Given the description of an element on the screen output the (x, y) to click on. 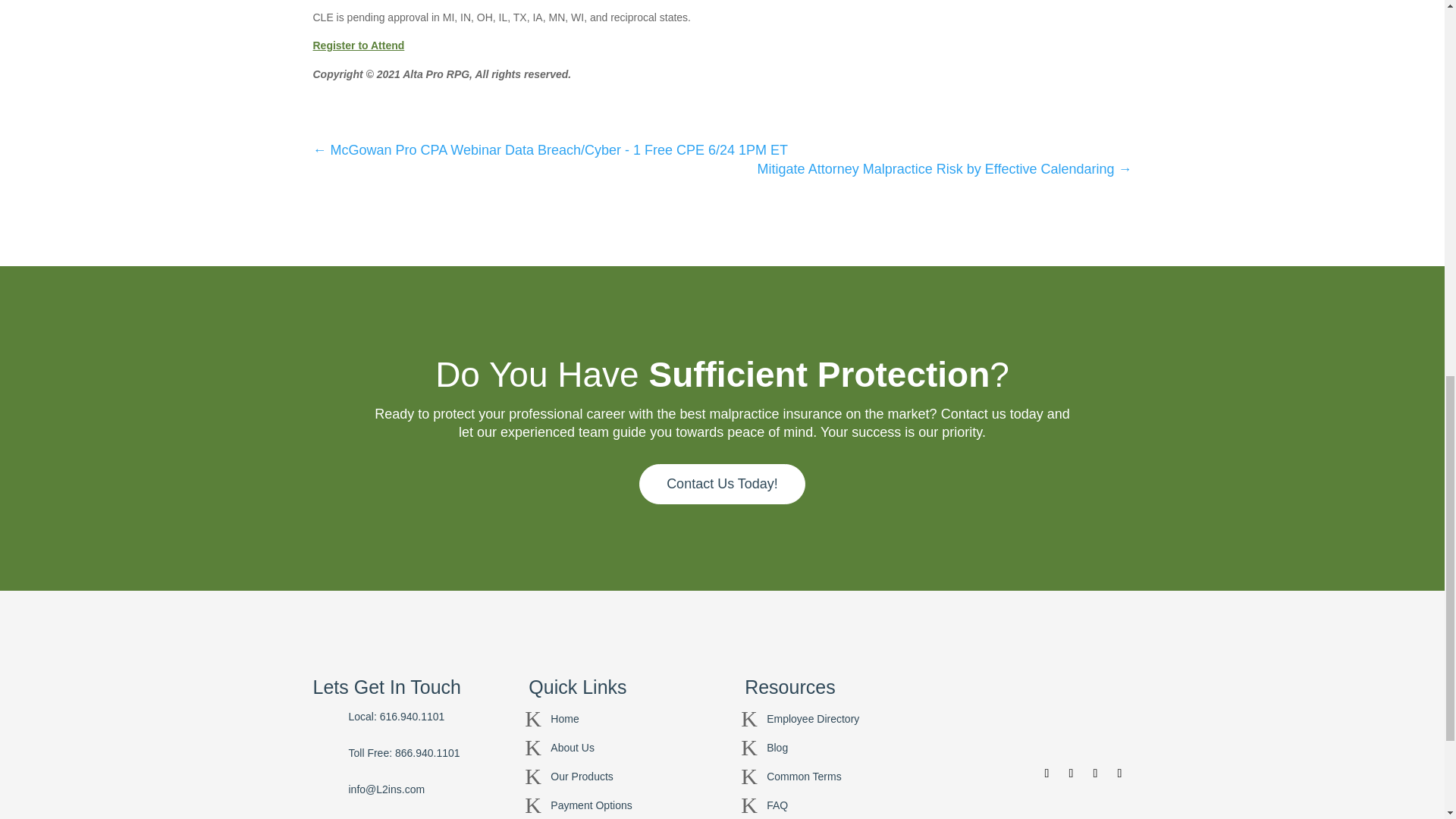
Follow on Google (1094, 773)
Register to Attend (358, 45)
Follow on X (1070, 773)
Follow on Facebook (1045, 773)
Follow on LinkedIn (1118, 773)
